Given the description of an element on the screen output the (x, y) to click on. 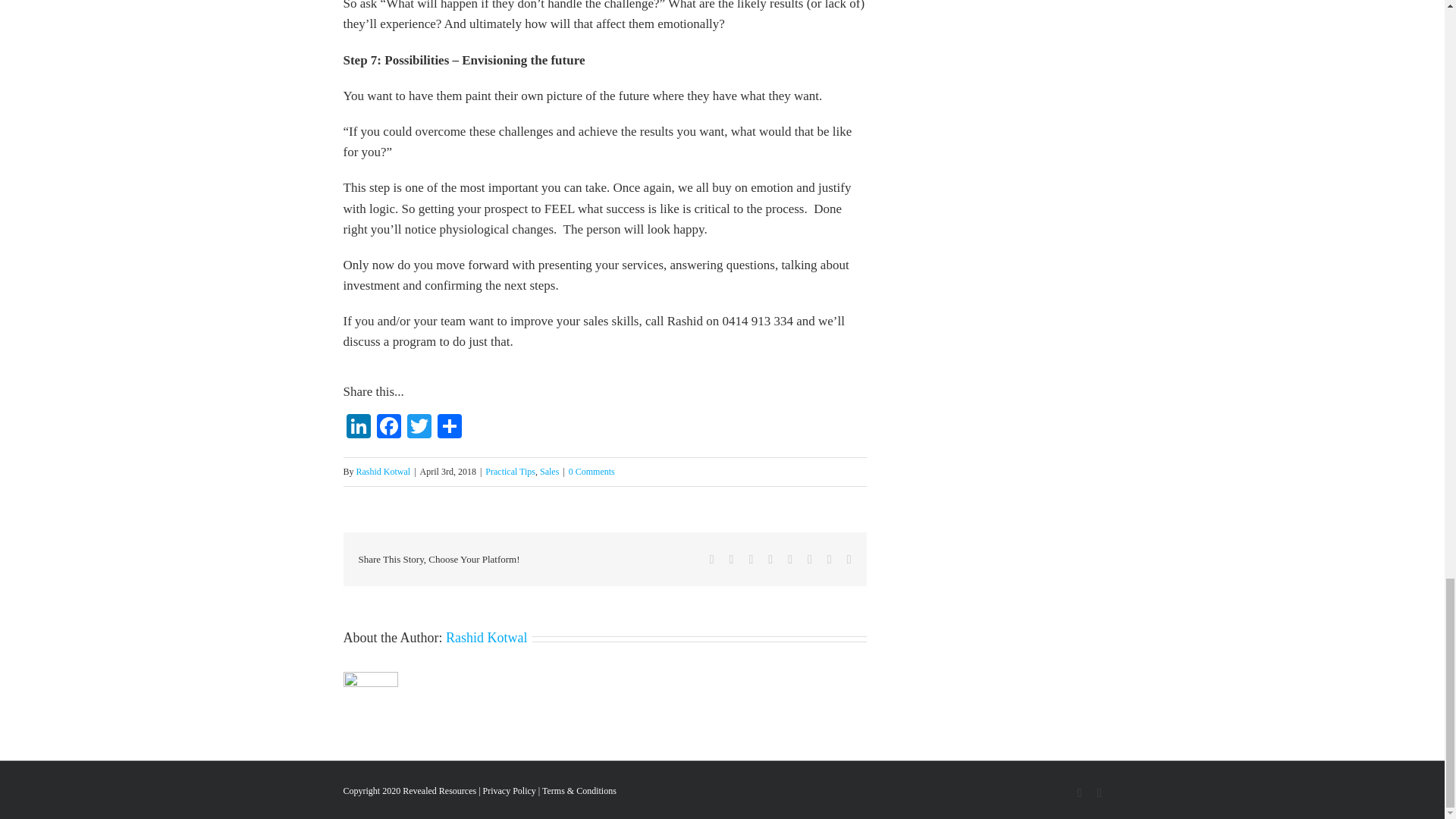
LinkedIn (357, 428)
Posts by Rashid Kotwal (486, 637)
Posts by Rashid Kotwal (383, 471)
Twitter (418, 428)
Facebook (387, 428)
